Given the description of an element on the screen output the (x, y) to click on. 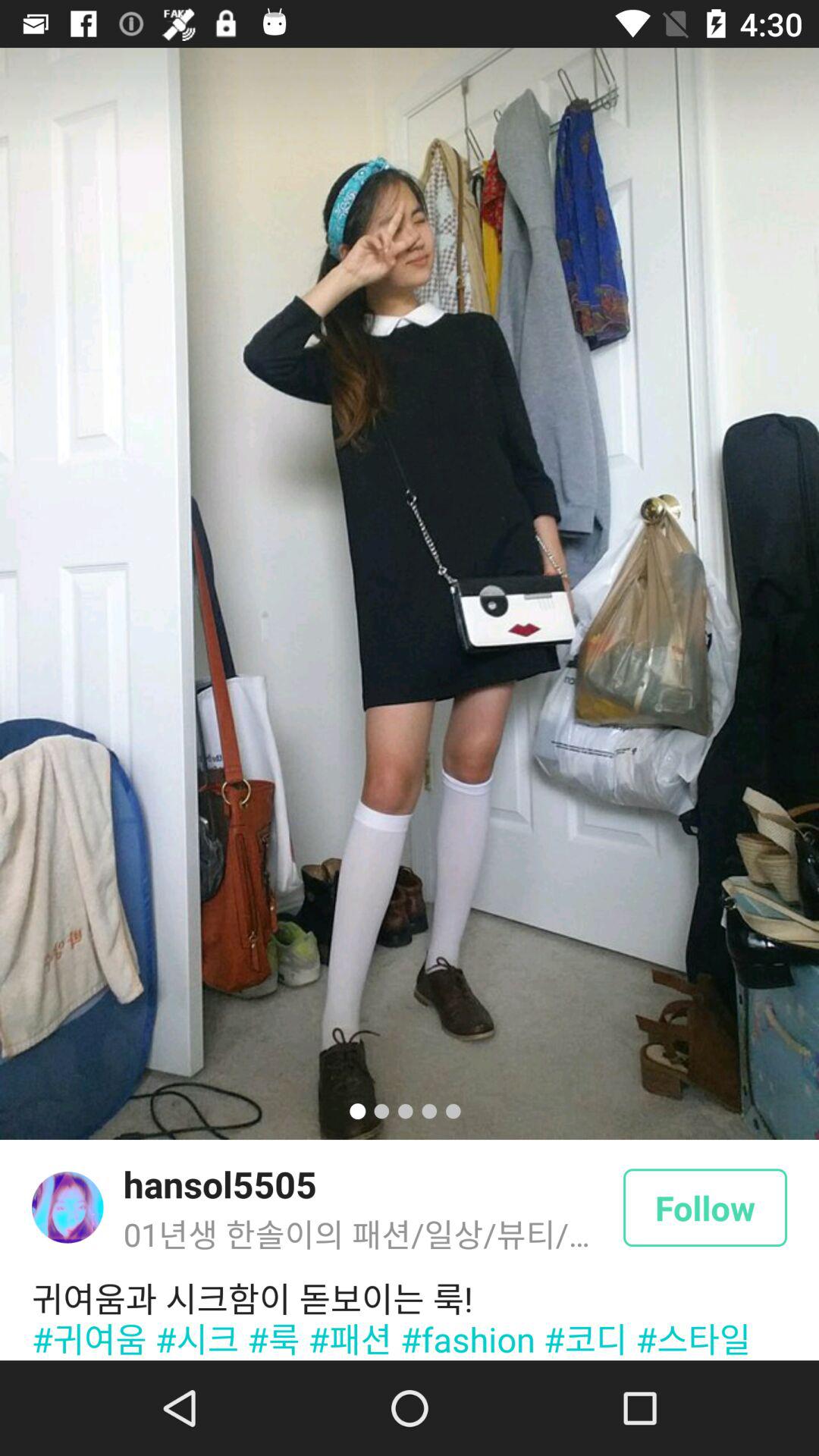
turn on follow (705, 1207)
